Given the description of an element on the screen output the (x, y) to click on. 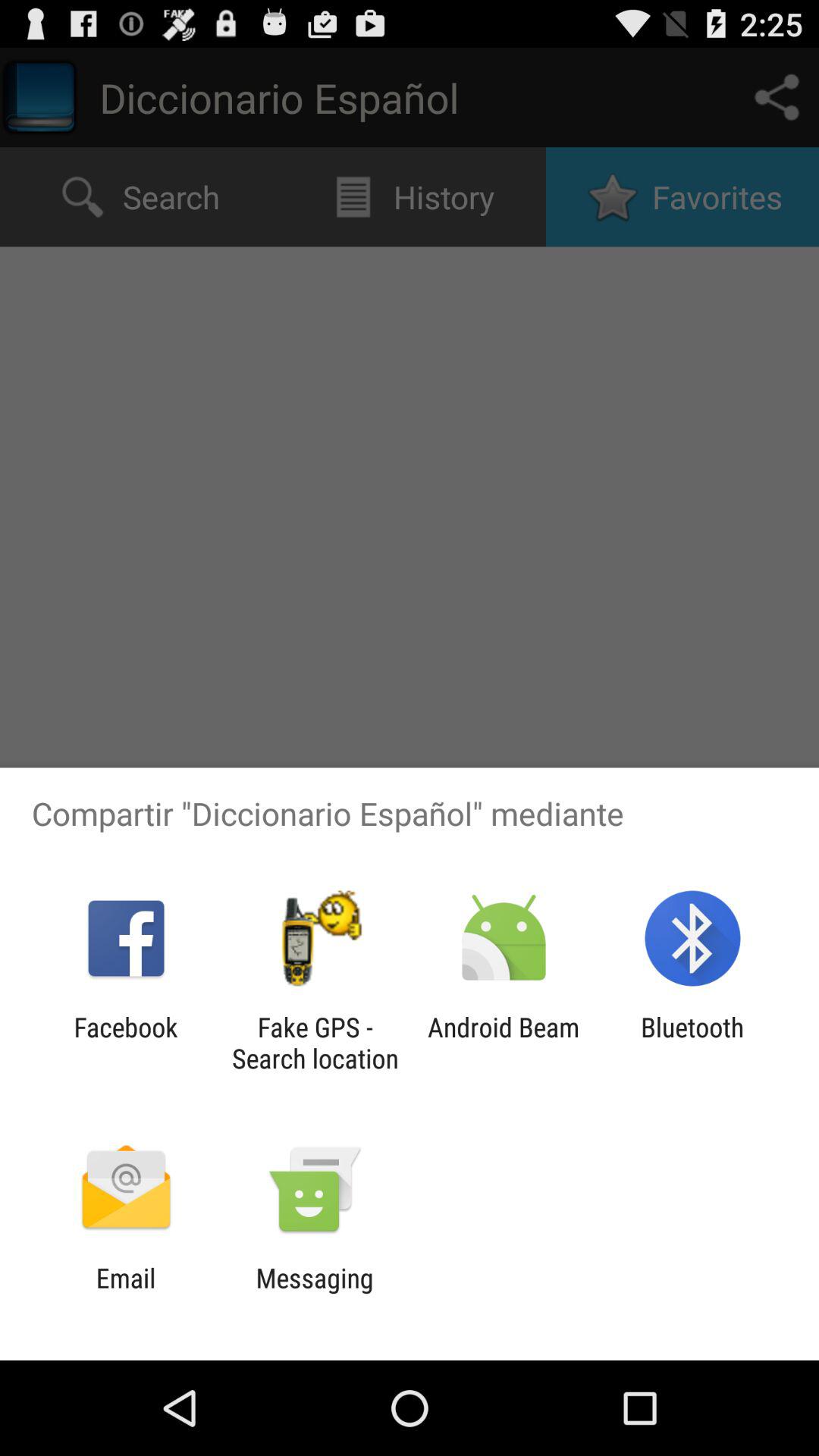
jump until messaging icon (314, 1293)
